Given the description of an element on the screen output the (x, y) to click on. 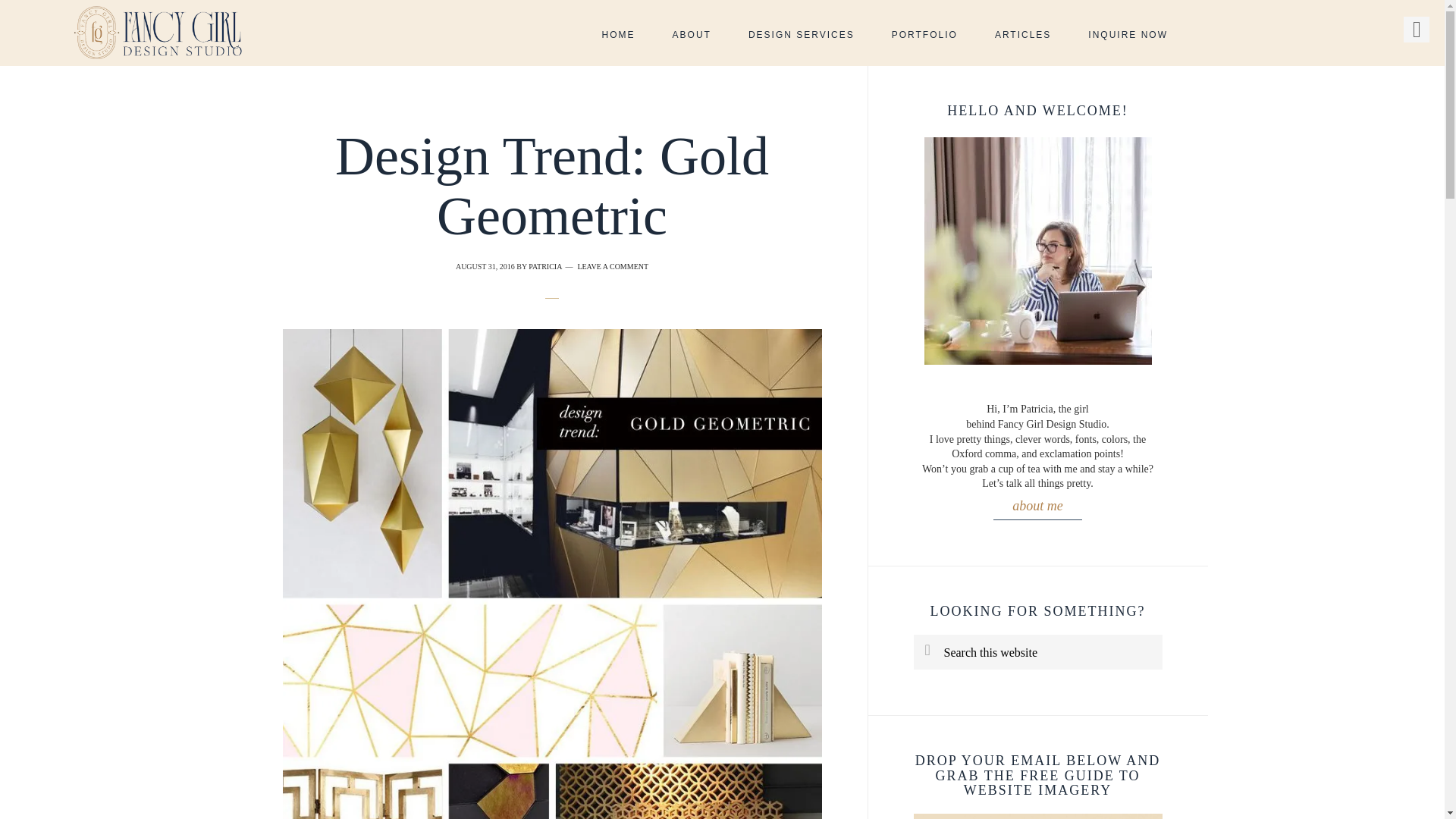
HOME (618, 34)
PATRICIA (545, 266)
PORTFOLIO (924, 34)
LEAVE A COMMENT (611, 266)
FANCY GIRL DESIGNS (158, 32)
ABOUT (692, 34)
ARTICLES (1022, 34)
INQUIRE NOW (1128, 34)
show offscreen content (1416, 29)
DESIGN SERVICES (801, 34)
